Given the description of an element on the screen output the (x, y) to click on. 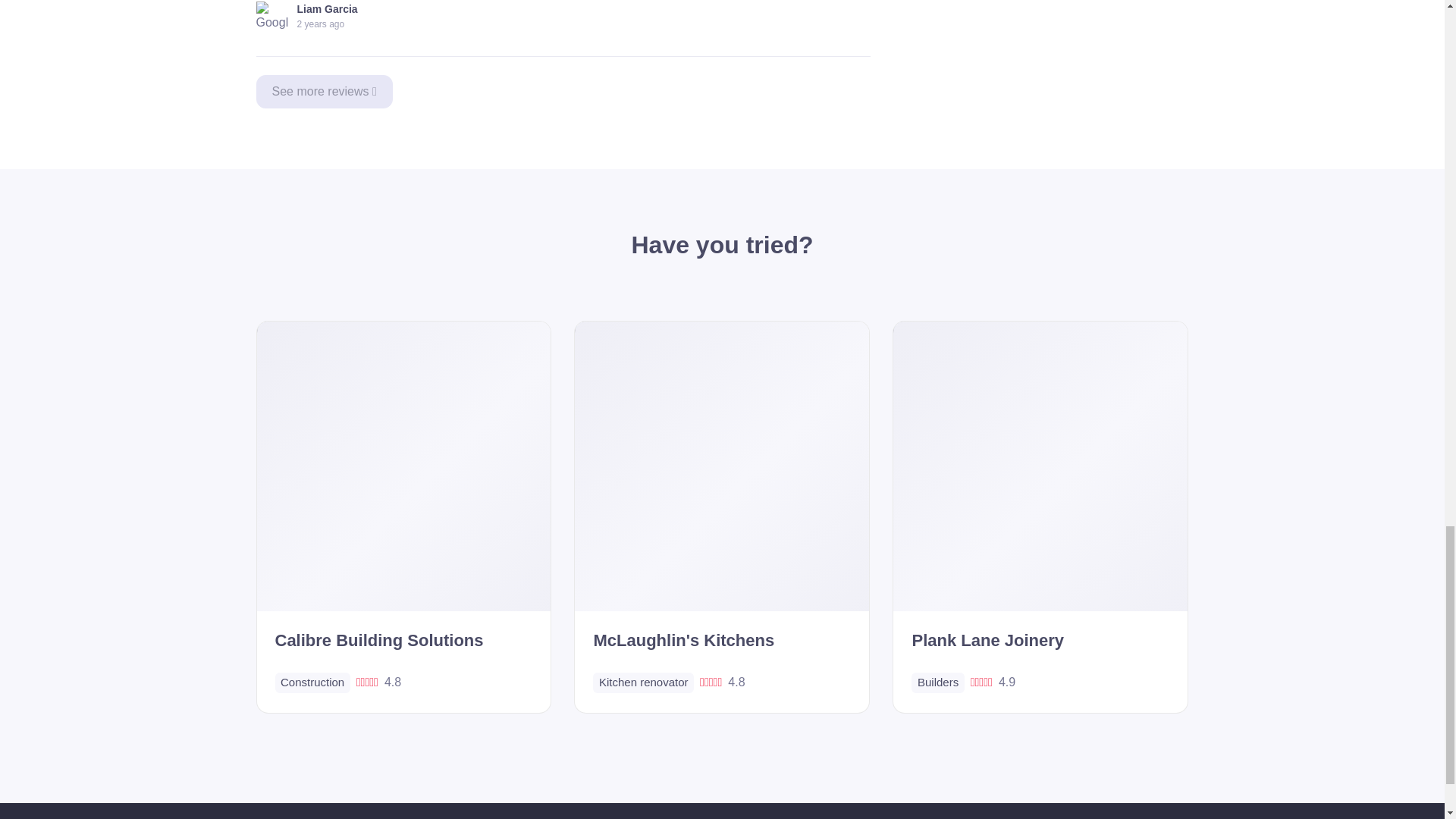
See more reviews (324, 91)
